Given the description of an element on the screen output the (x, y) to click on. 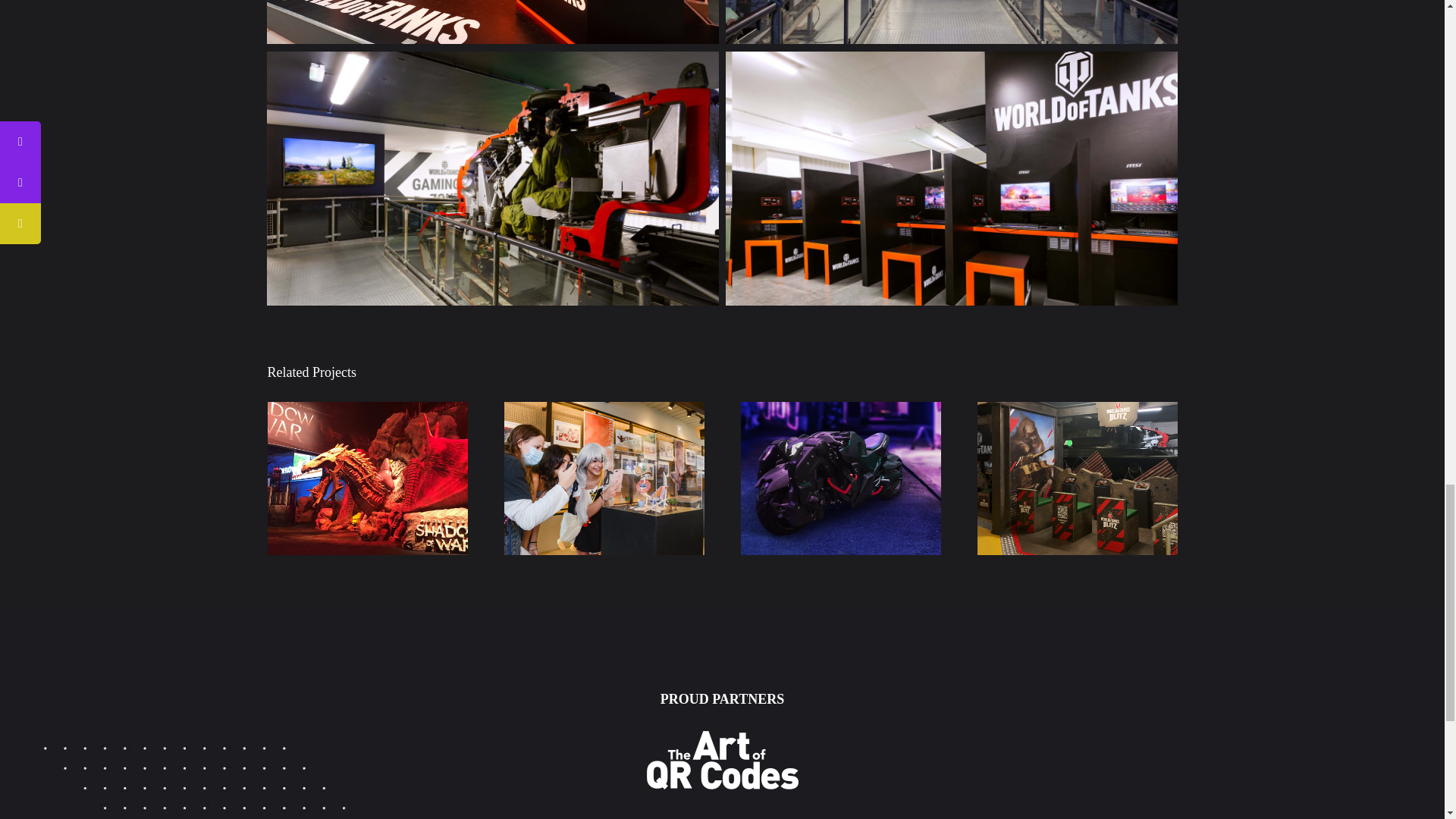
2 (491, 178)
4 (950, 178)
5 (950, 22)
1 (491, 22)
